Given the description of an element on the screen output the (x, y) to click on. 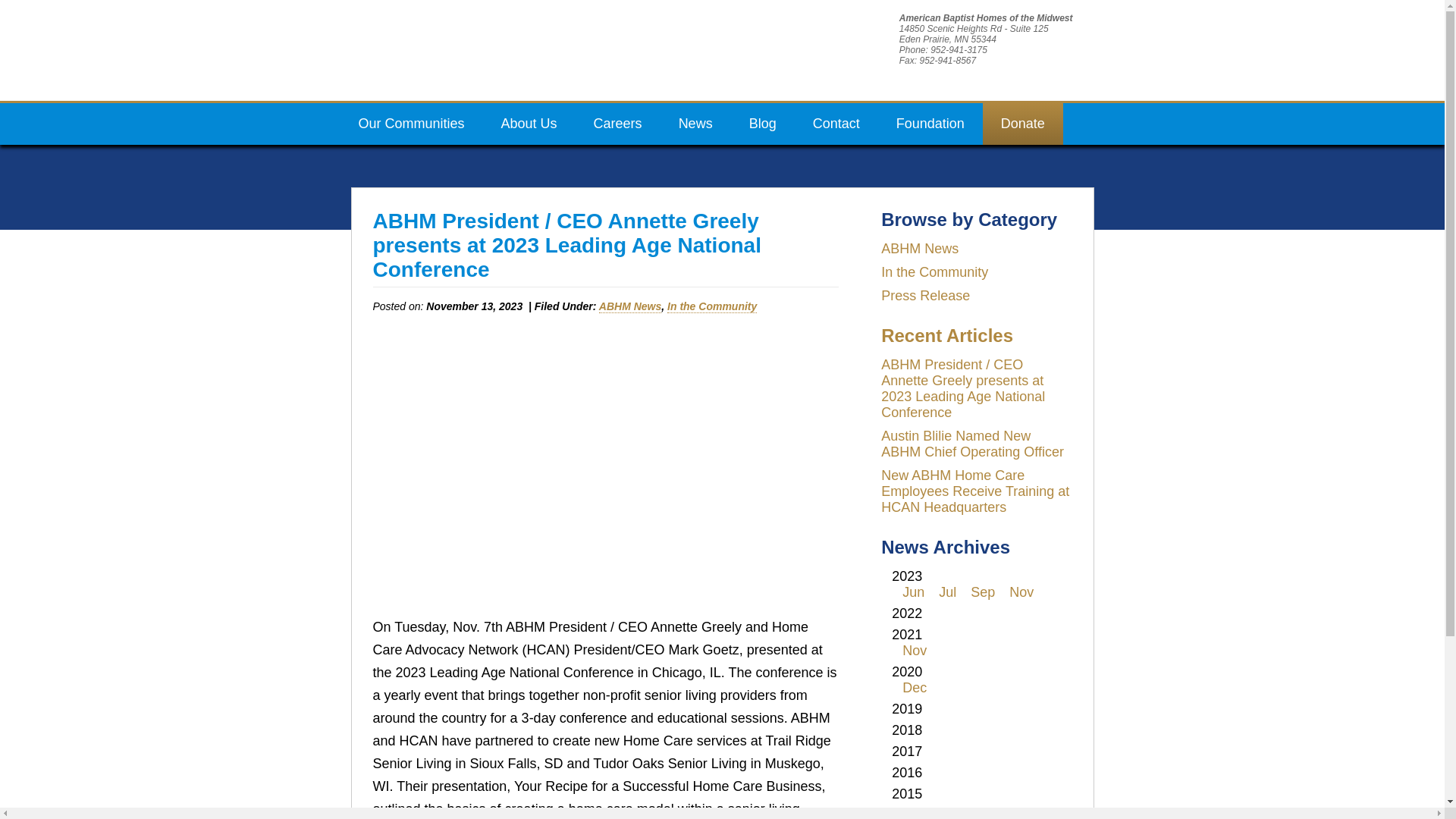
In the Community (934, 272)
Sep (982, 591)
News (695, 123)
1 entries in July 2023 (947, 591)
Careers (618, 123)
Blog (762, 123)
Foundation (929, 123)
ABHM News (629, 306)
ABHM News (919, 248)
